Given the description of an element on the screen output the (x, y) to click on. 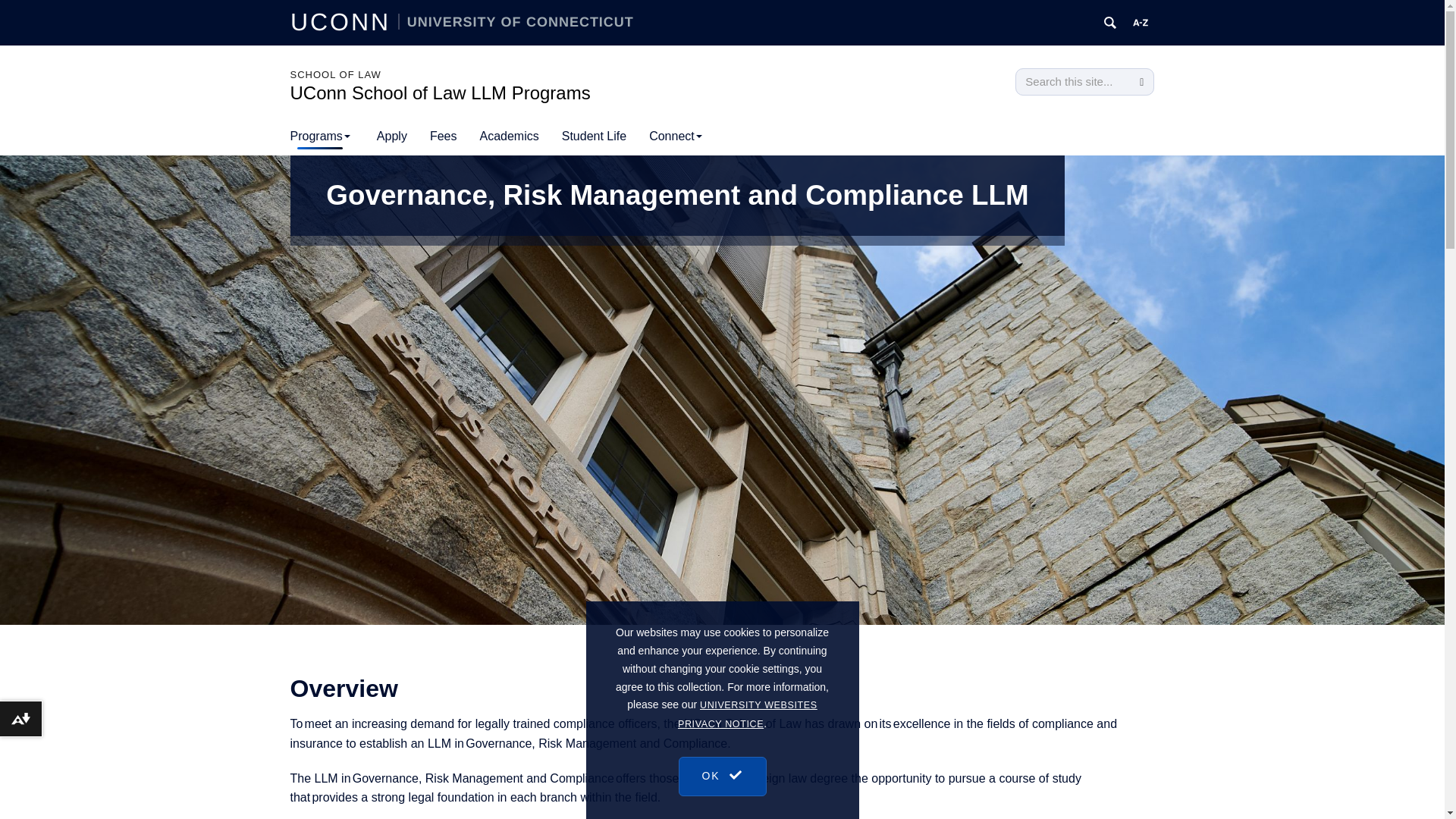
Programs (320, 136)
Academics (508, 136)
UNIVERSITY OF CONNECTICUT (515, 21)
Fees (443, 136)
Search (1141, 81)
Student Life (593, 136)
Connect (675, 136)
SCHOOL OF LAW (334, 74)
Search UConn (1109, 22)
UConn A to Z Index (1140, 22)
